Given the description of an element on the screen output the (x, y) to click on. 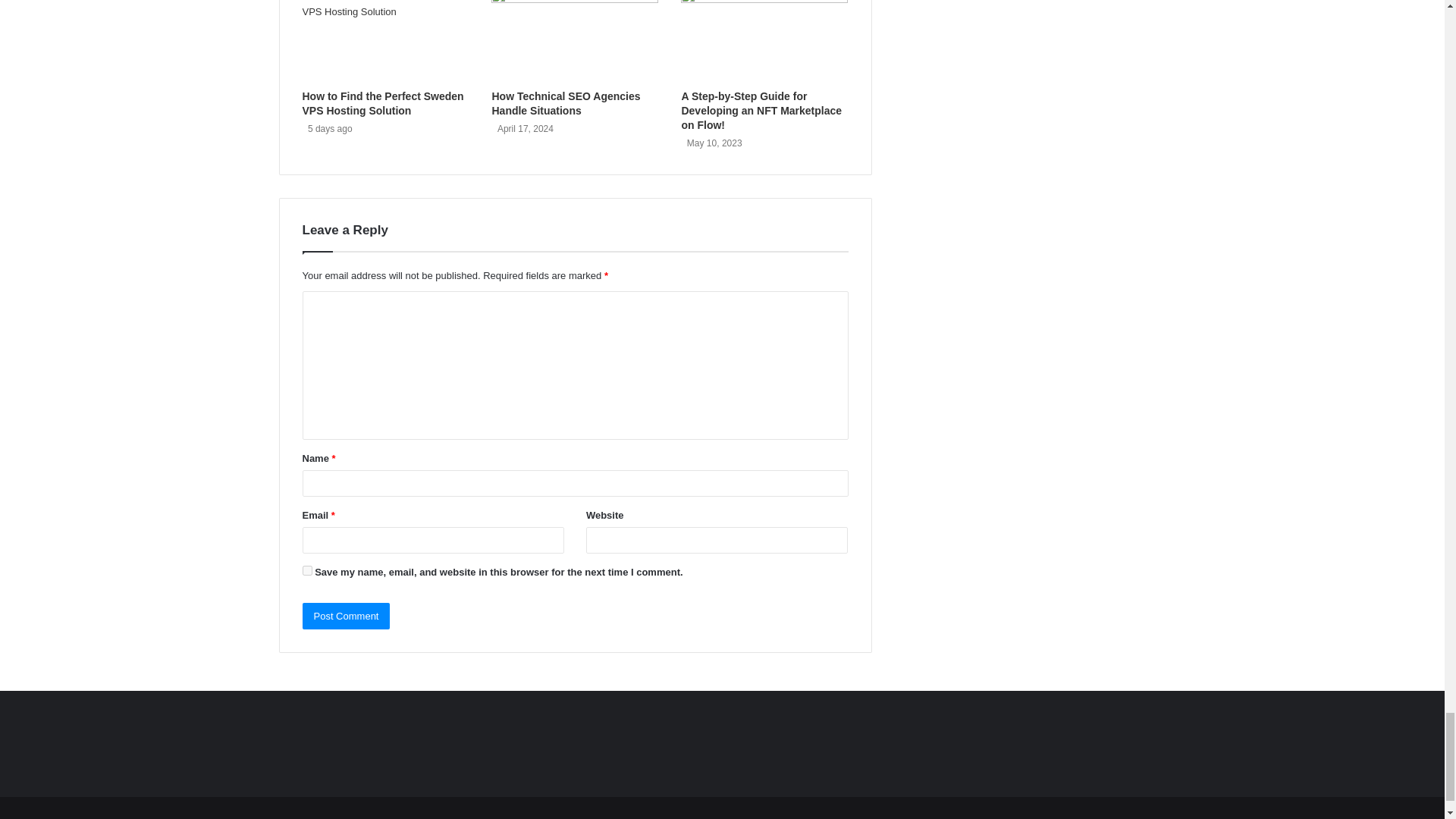
Post Comment (345, 615)
yes (306, 570)
